Given the description of an element on the screen output the (x, y) to click on. 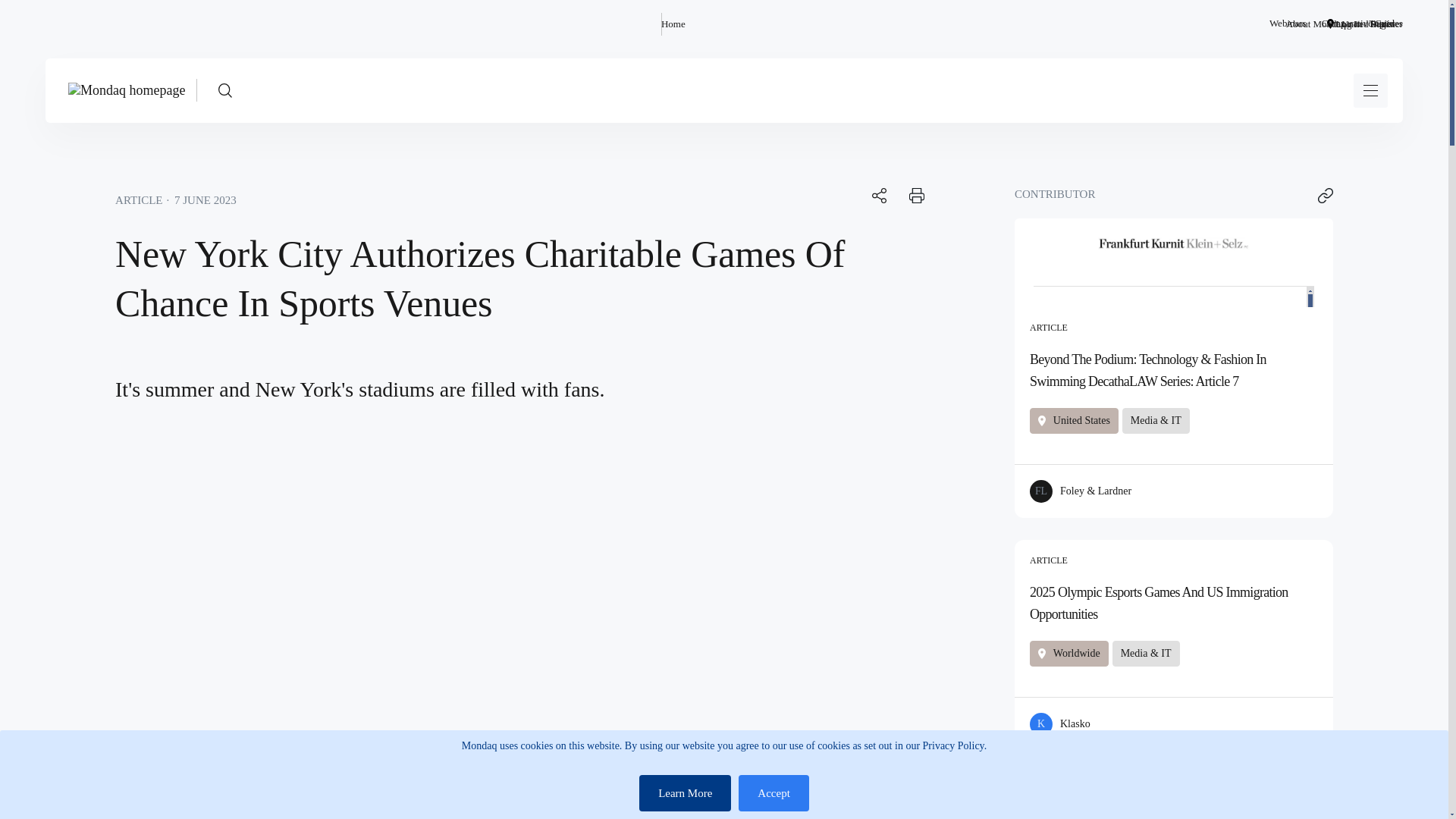
Webinars (1287, 23)
Home (673, 24)
About Mondaq (1315, 24)
Comparative Guides (1362, 23)
